Given the description of an element on the screen output the (x, y) to click on. 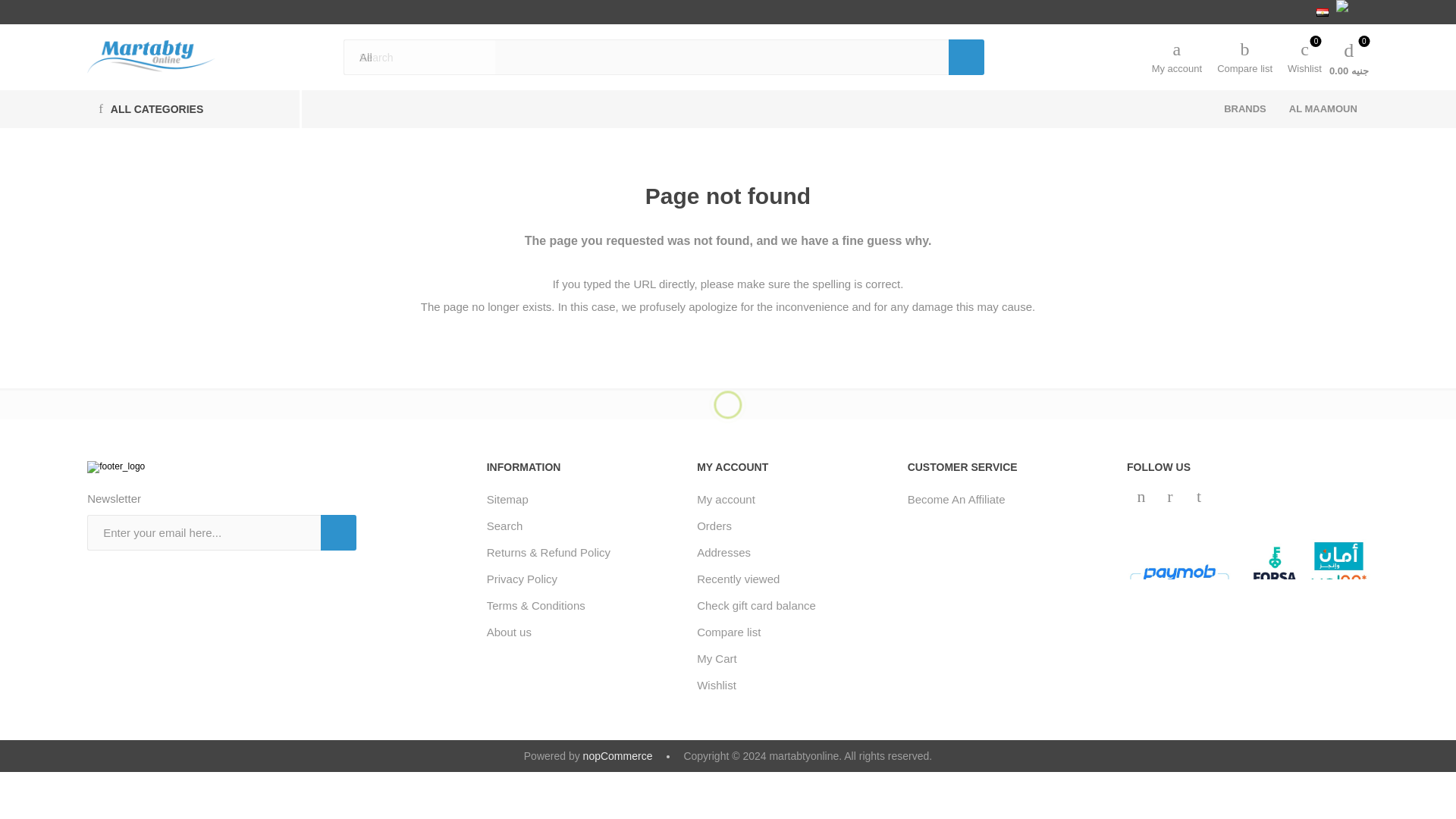
Search (966, 57)
English (1304, 56)
My account (1347, 12)
Search (1176, 56)
Compare list (966, 57)
BRANDS (1244, 56)
Martabty Online (1245, 108)
Search (151, 56)
Arabic (966, 57)
Send (1322, 12)
Arabic (338, 532)
